Given the description of an element on the screen output the (x, y) to click on. 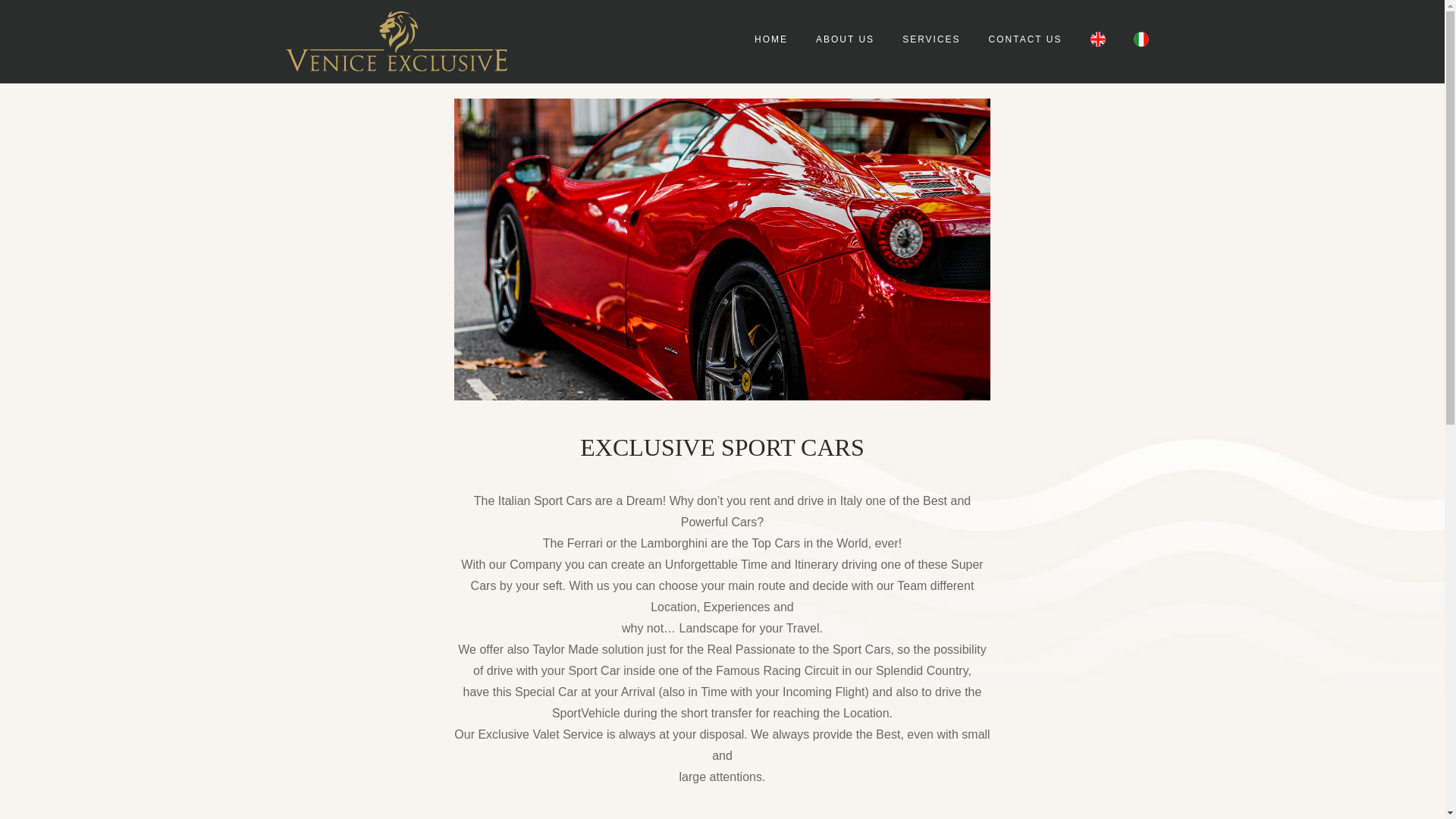
SERVICES (931, 39)
HOME (771, 39)
ABOUT US (845, 39)
CONTACT US (1025, 39)
